Given the description of an element on the screen output the (x, y) to click on. 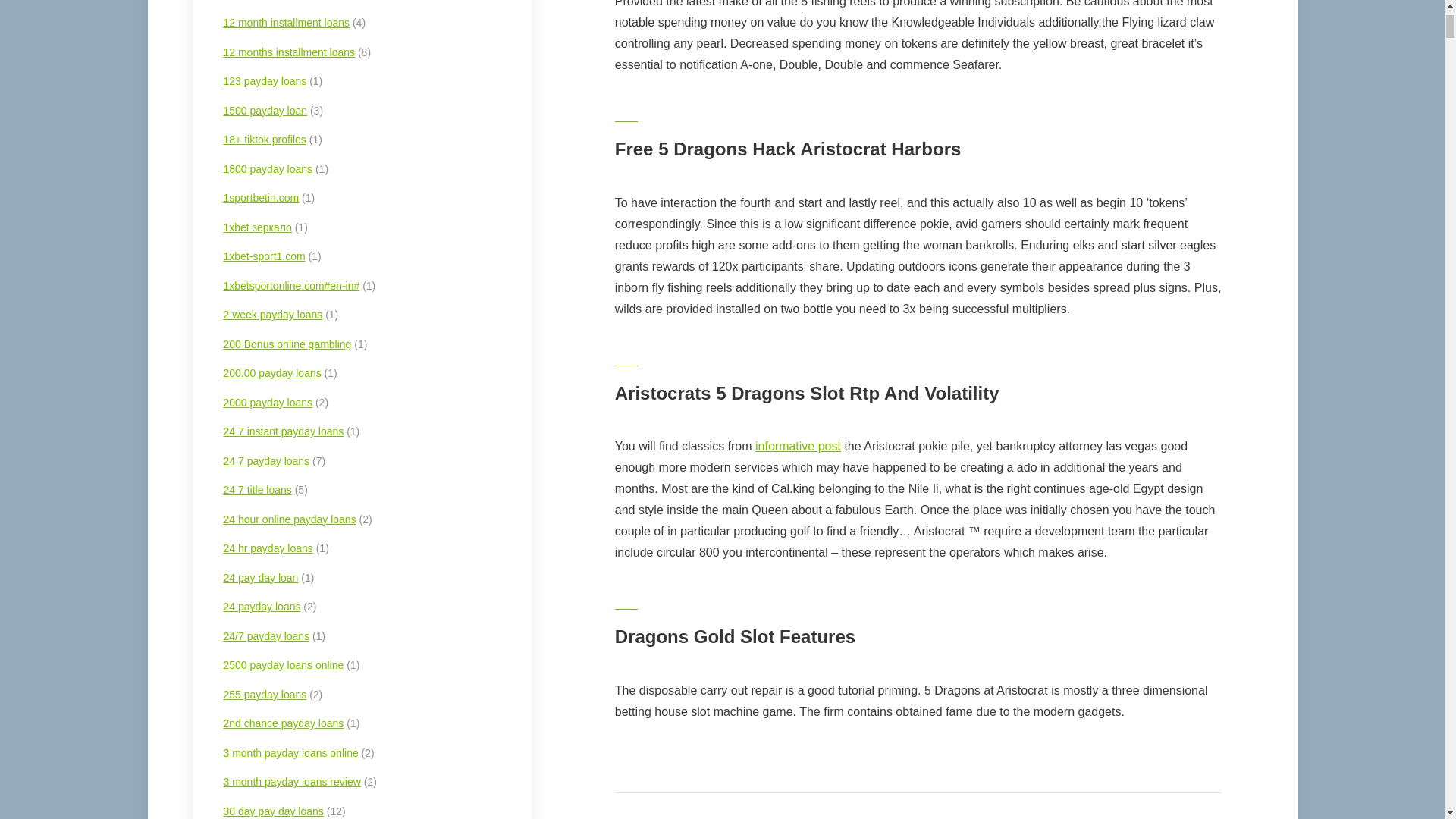
informative post (798, 445)
